Given the description of an element on the screen output the (x, y) to click on. 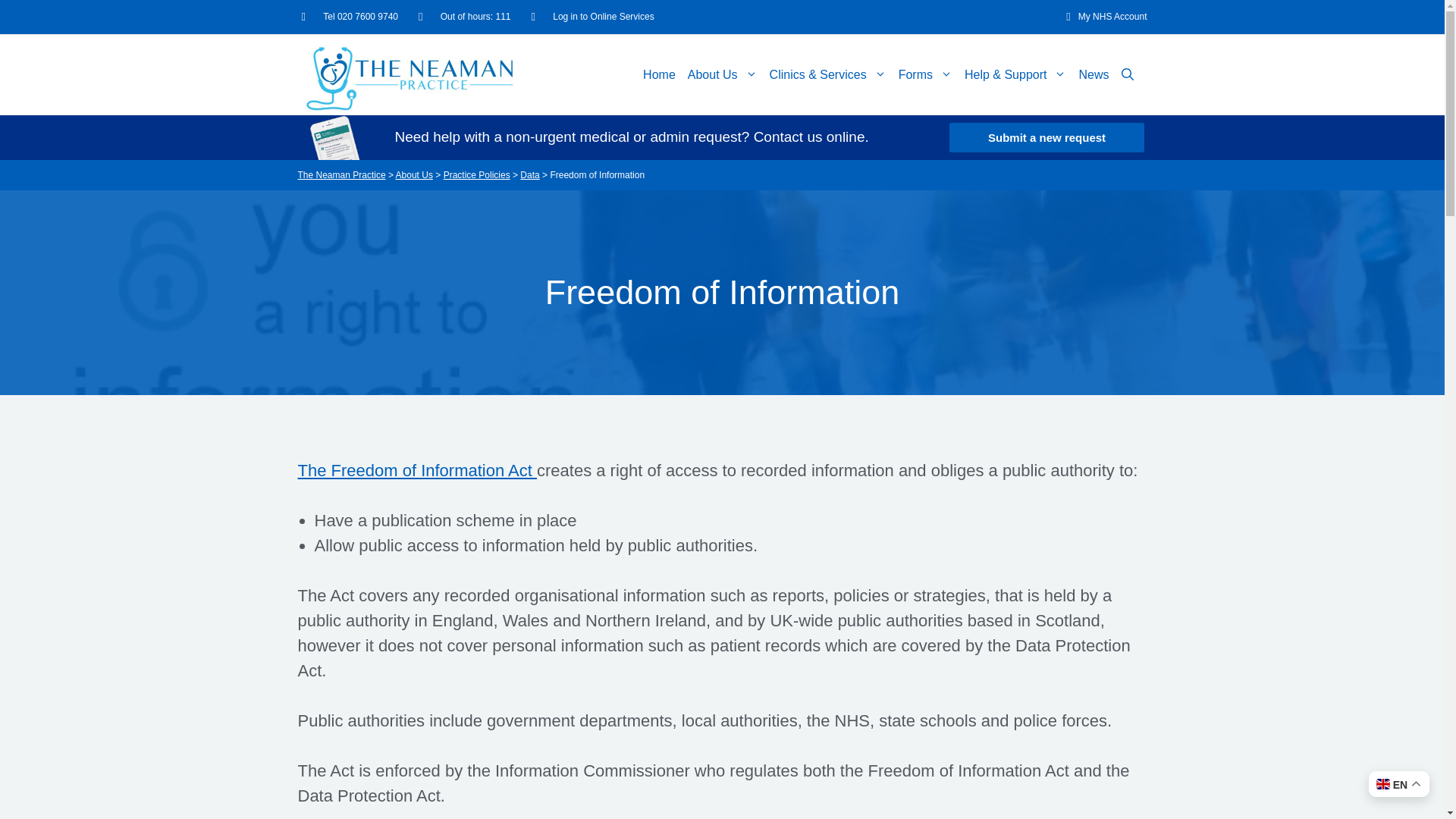
About Us (721, 75)
Go to Data. (528, 174)
Log in to Online Services (592, 16)
My NHS Account (1102, 16)
Go to Practice Policies. (477, 174)
Home (659, 75)
Out of hours: 111 (465, 16)
Go to About Us. (414, 174)
Go to The Neaman Practice. (341, 174)
Tel 020 7600 9740 (349, 16)
